Given the description of an element on the screen output the (x, y) to click on. 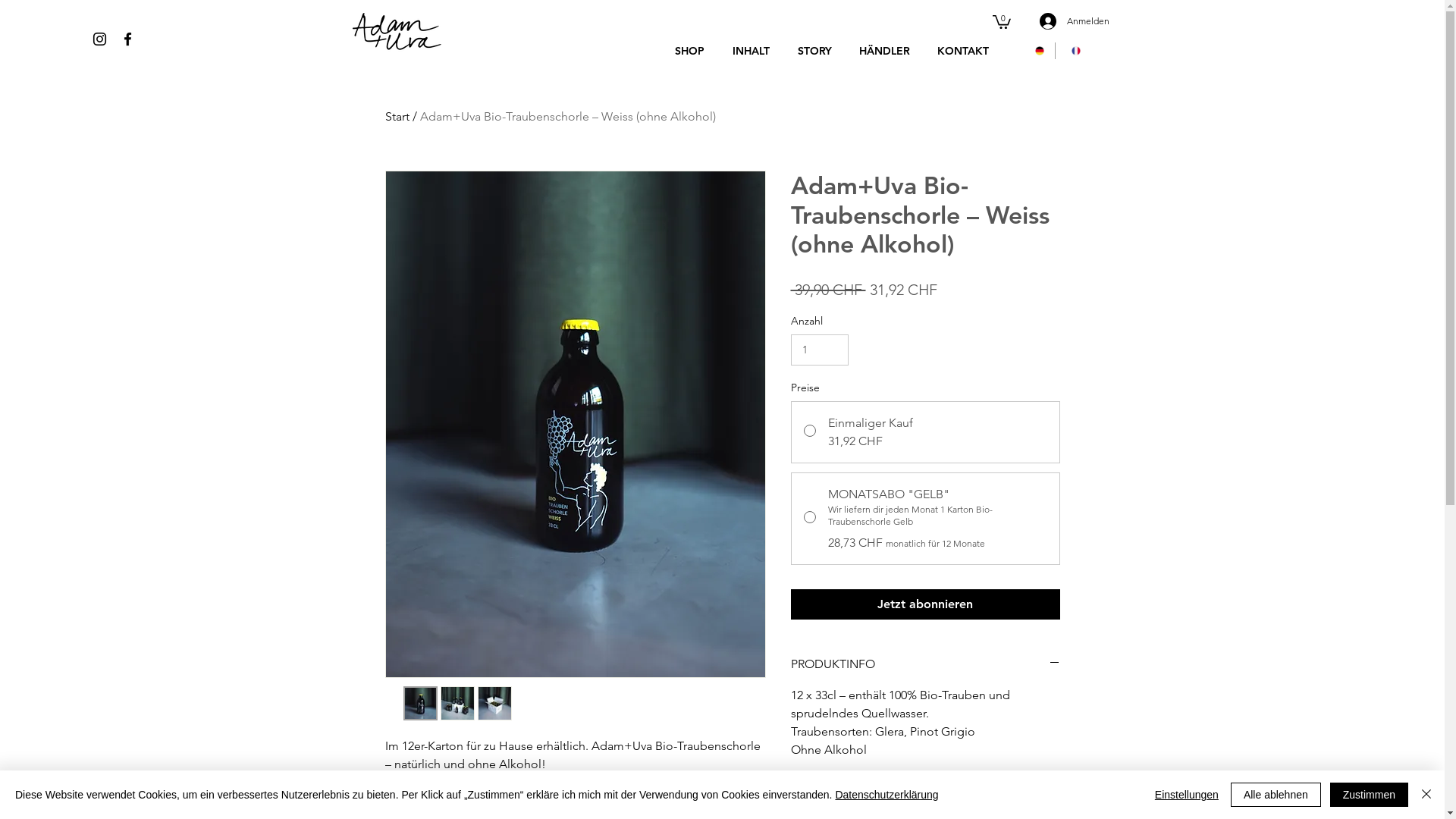
0 Element type: text (1000, 20)
Start Element type: text (397, 116)
STORY Element type: text (812, 50)
SHOP Element type: text (686, 50)
Alle ablehnen Element type: text (1275, 794)
Jetzt abonnieren Element type: text (924, 604)
Anmelden Element type: text (1059, 21)
Zustimmen Element type: text (1369, 794)
INHALT Element type: text (748, 50)
Visitor Analytics Element type: hover (1442, 4)
PRODUKTINFO Element type: text (924, 663)
KONTAKT Element type: text (959, 50)
